Given the description of an element on the screen output the (x, y) to click on. 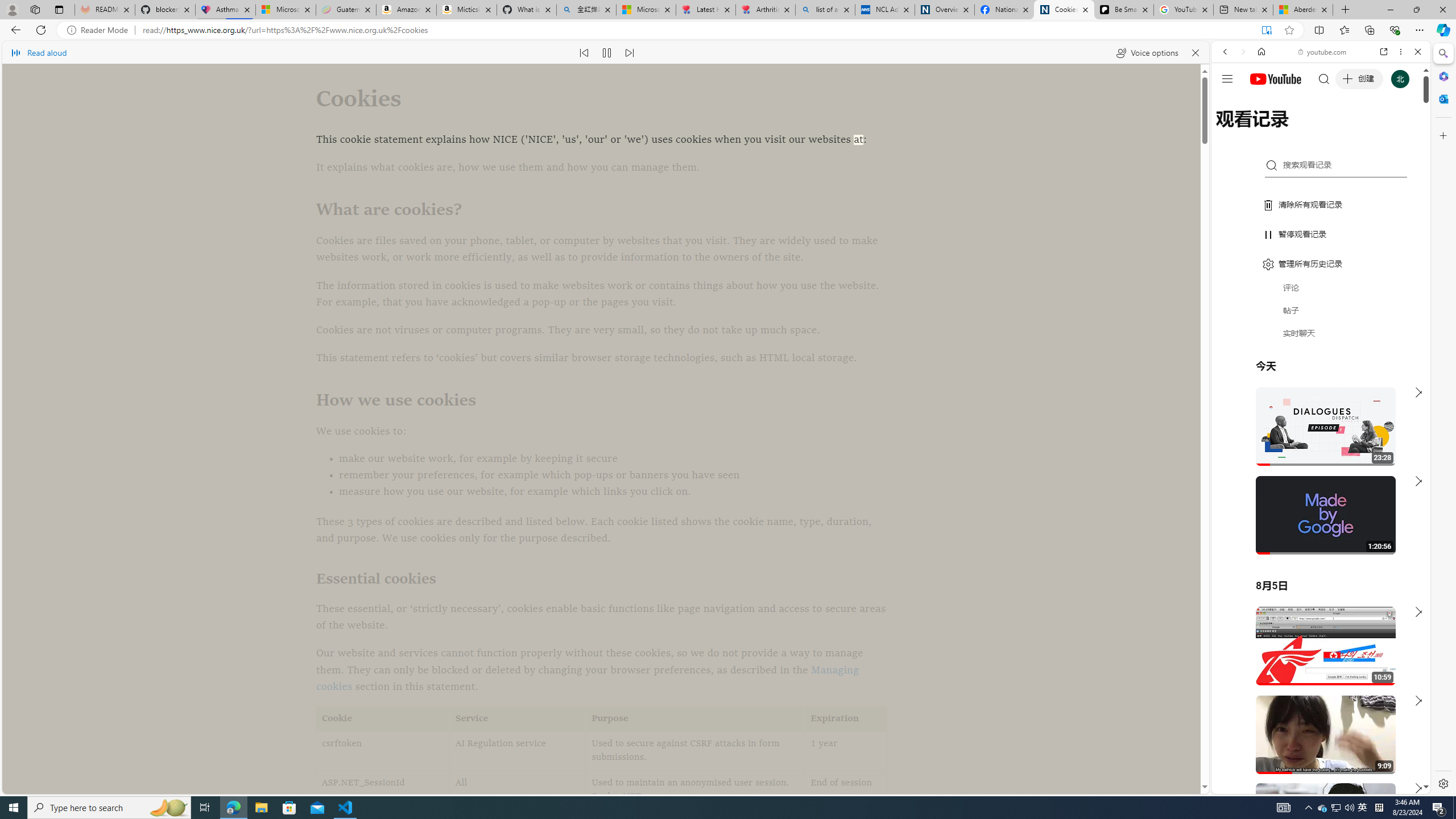
Pause read aloud (Ctrl+Shift+U) (606, 52)
US[ju] (1249, 785)
Service (517, 718)
